Given the description of an element on the screen output the (x, y) to click on. 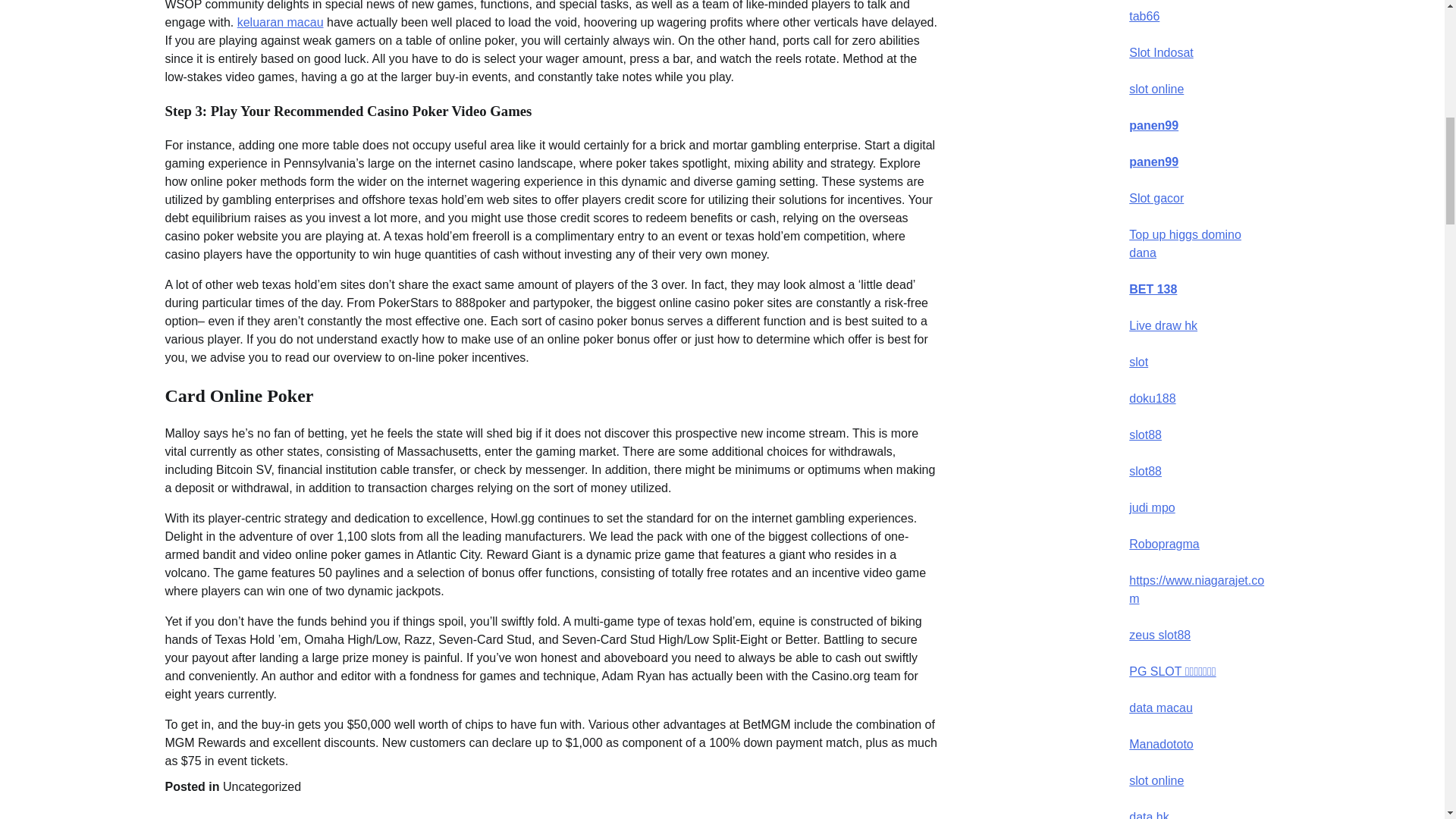
slot online (1156, 88)
Slot Indosat (1161, 51)
tab66 (1143, 15)
keluaran macau (280, 21)
Uncategorized (261, 786)
